Given the description of an element on the screen output the (x, y) to click on. 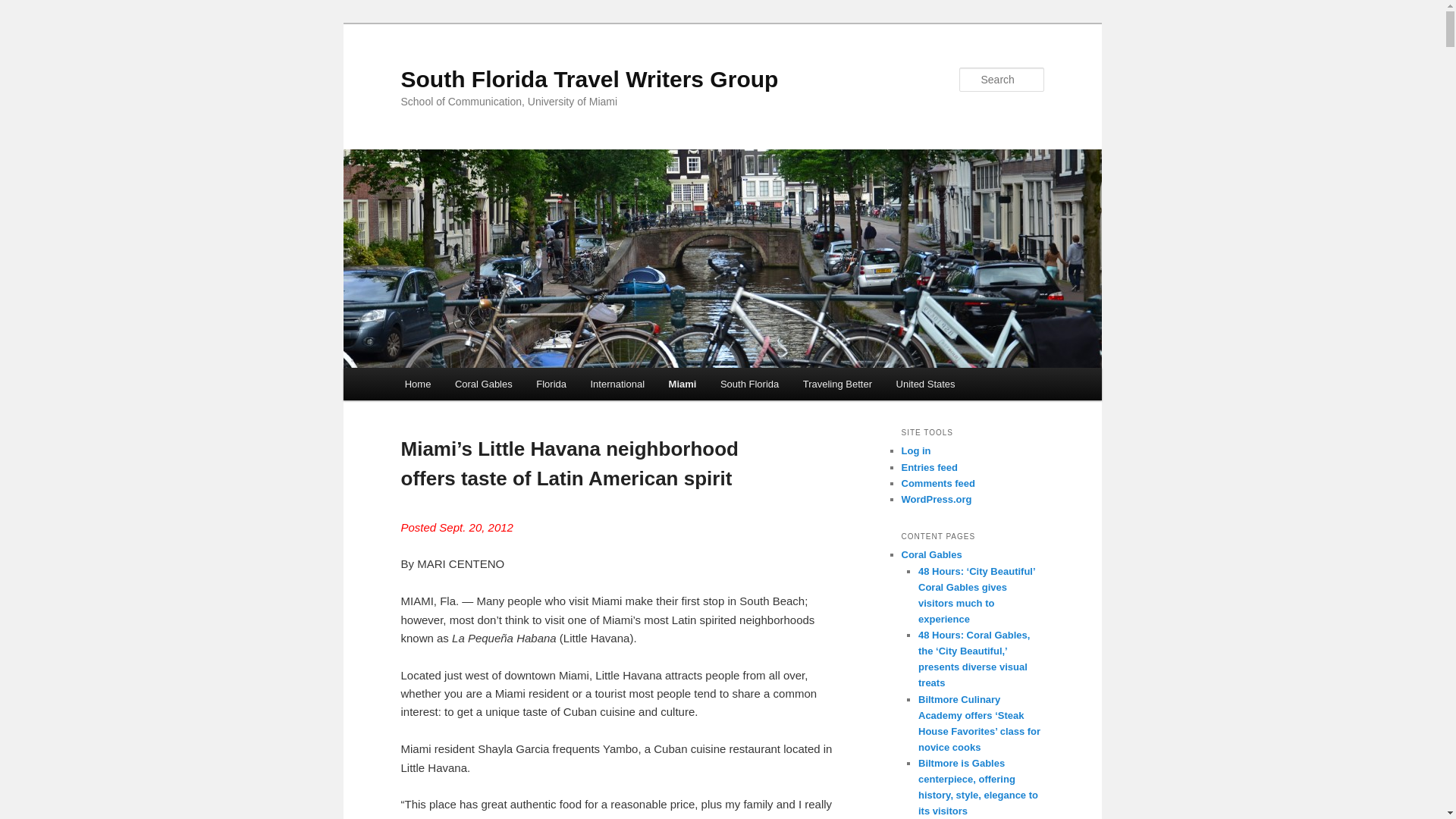
Home (417, 383)
Coral Gables (483, 383)
South Florida Travel Writers Group (588, 78)
Search (24, 8)
International (617, 383)
Florida (551, 383)
